Given the description of an element on the screen output the (x, y) to click on. 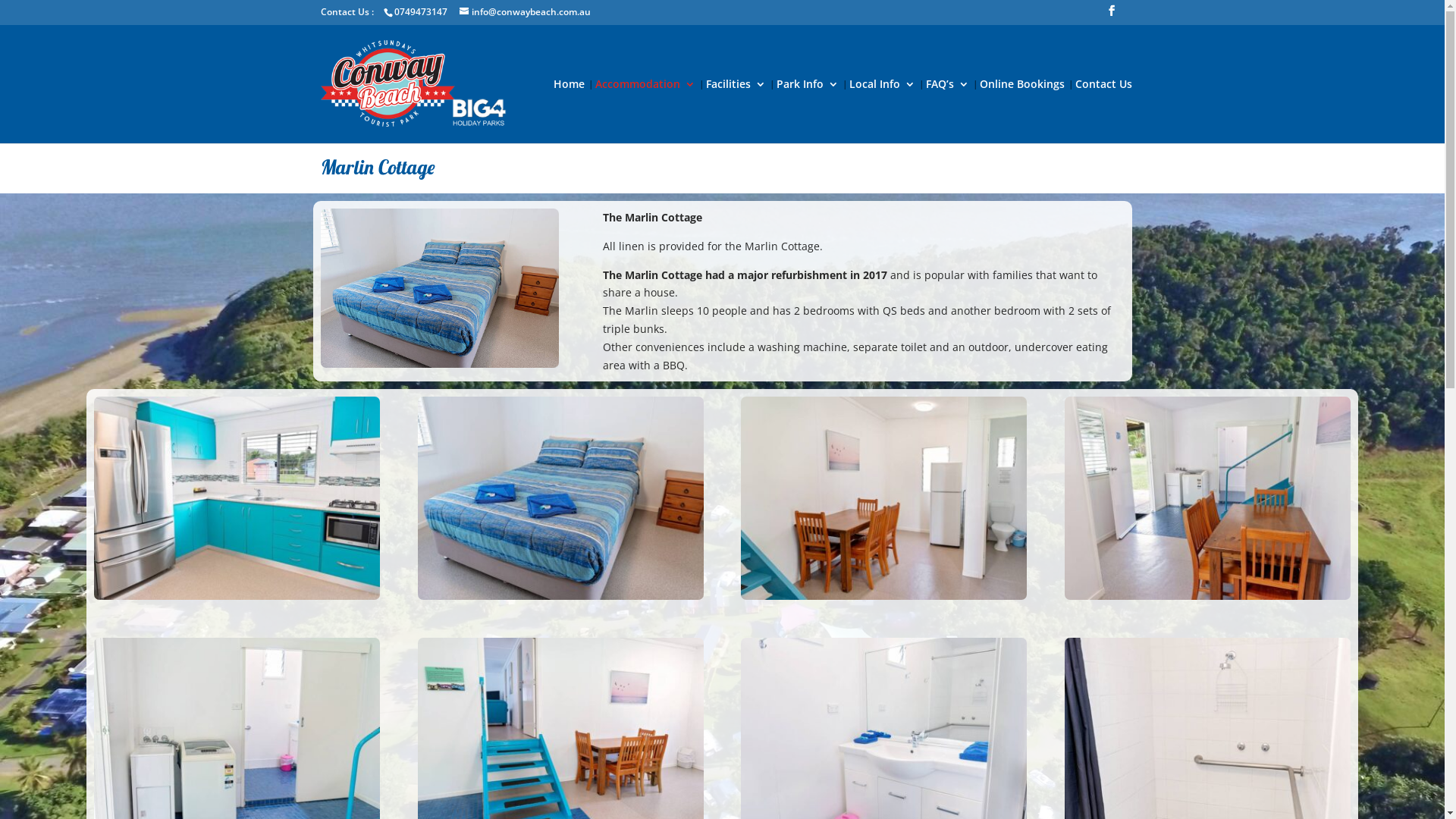
info@conwaybeach.com.au Element type: text (524, 11)
0749473147 Element type: text (420, 11)
Marlin Shack-6950 Element type: hover (236, 595)
Park Info Element type: text (807, 110)
Home Element type: text (568, 110)
Facilities Element type: text (735, 110)
Accommodation Element type: text (644, 110)
Marlin Shack-7950 Element type: hover (439, 287)
Contact Us Element type: text (1103, 110)
Marlin Shack-8950 Element type: hover (883, 595)
Online Bookings Element type: text (1021, 110)
Local Info Element type: text (882, 110)
Marlin Shack-9950 Element type: hover (1207, 595)
Marlin Shack-7950 Element type: hover (560, 595)
